Given the description of an element on the screen output the (x, y) to click on. 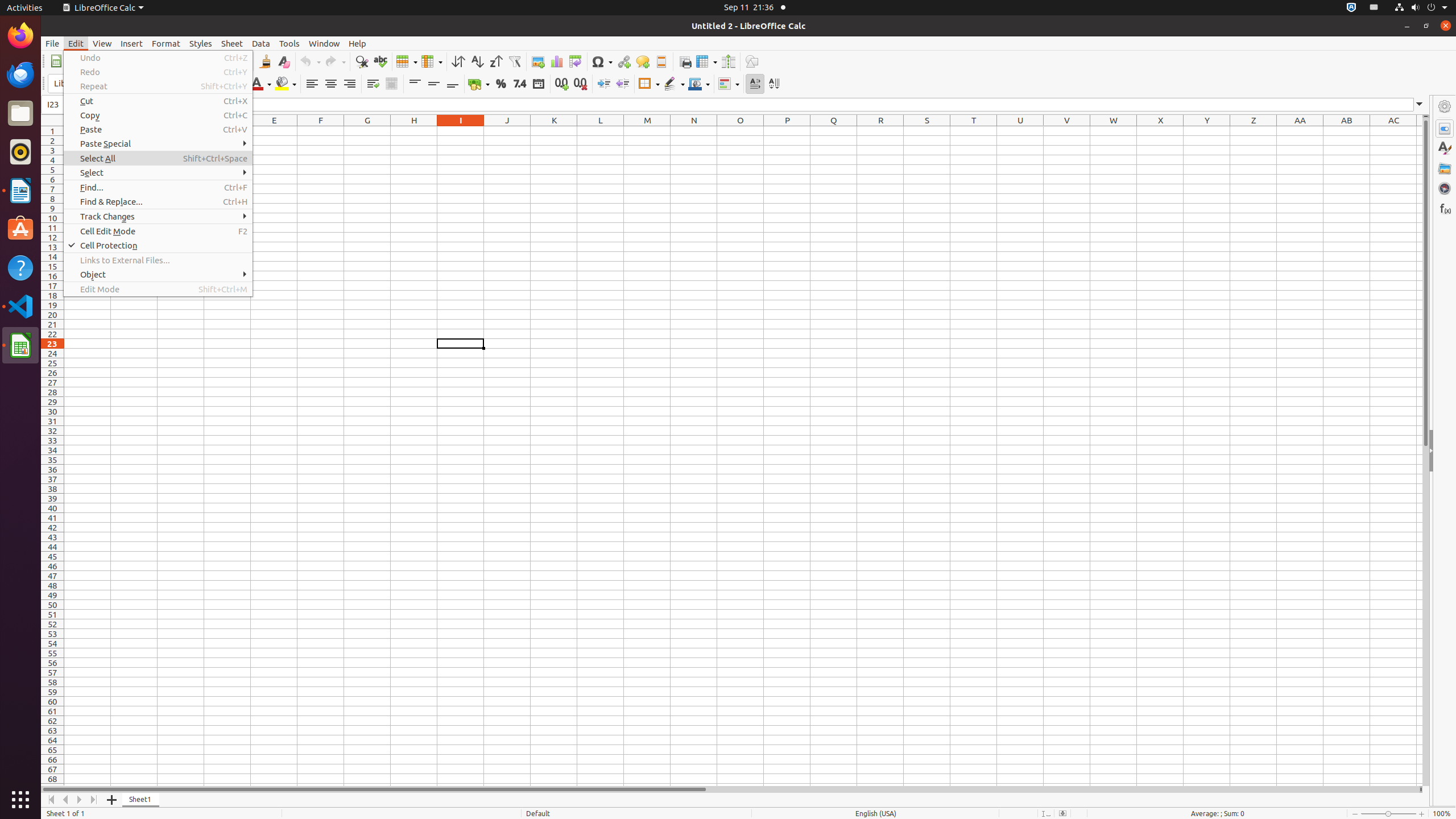
Navigator Element type: radio-button (1444, 188)
W1 Element type: table-cell (1113, 130)
Text direction from left to right Element type: toggle-button (754, 83)
